Given the description of an element on the screen output the (x, y) to click on. 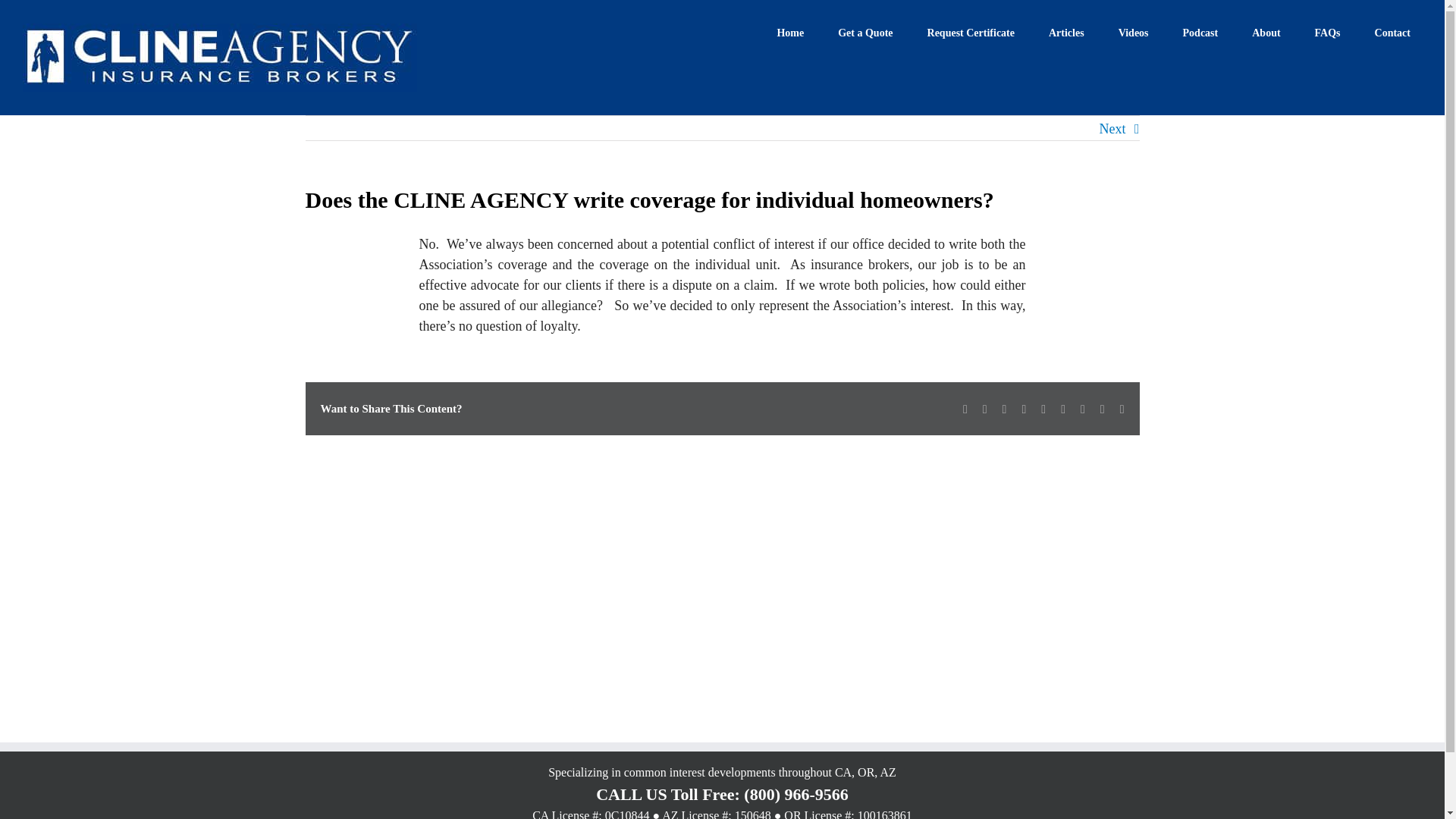
LinkedIn (1005, 409)
Articles (1066, 31)
FAQs (1327, 31)
LinkedIn (1005, 409)
Tumblr (1063, 409)
Facebook (965, 409)
Twitter (984, 409)
Vk (1102, 409)
Request Certificate (970, 31)
Email (1121, 409)
Get a Quote (865, 31)
Email (1121, 409)
Tumblr (1063, 409)
Facebook (965, 409)
Twitter (984, 409)
